Given the description of an element on the screen output the (x, y) to click on. 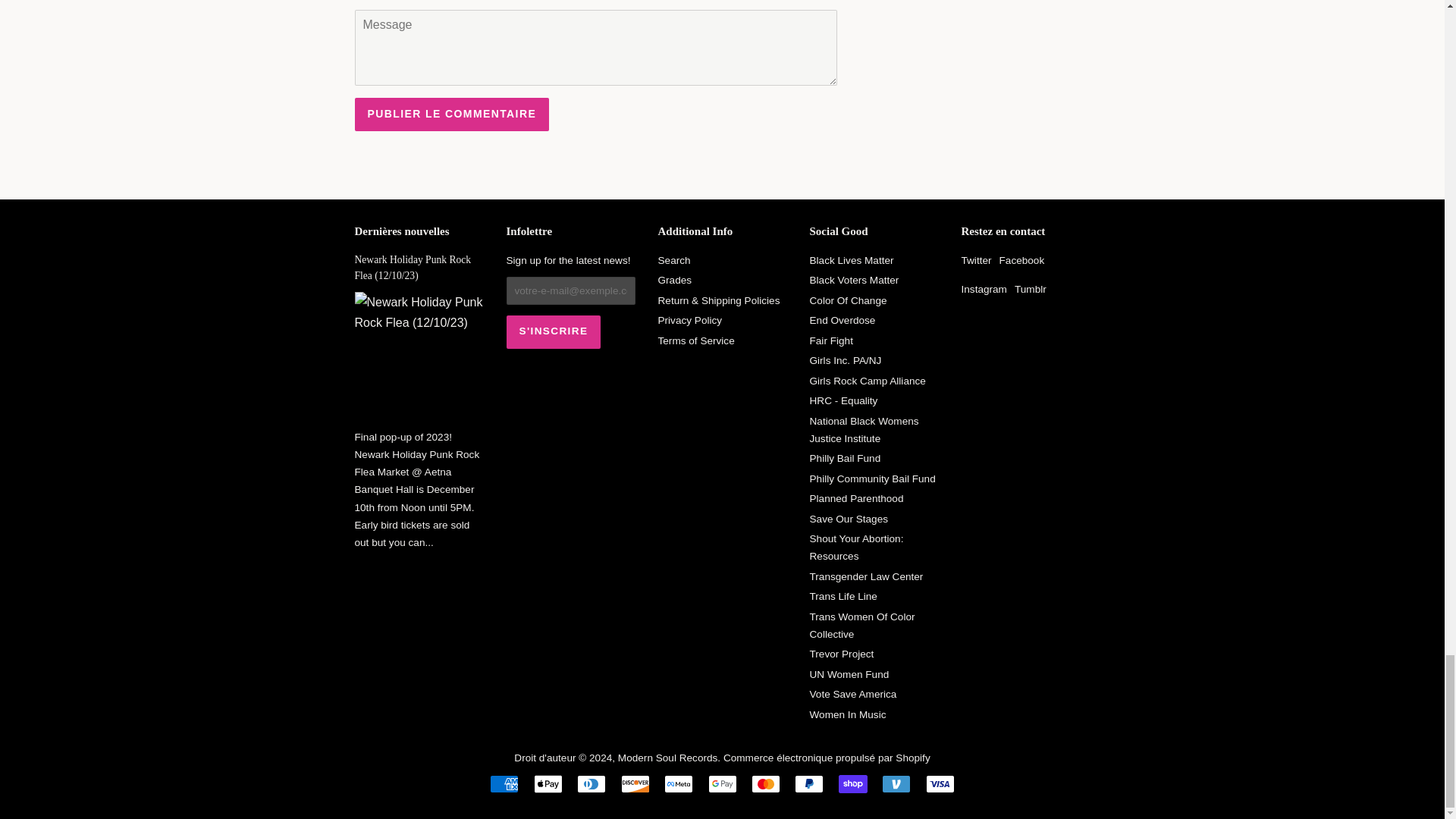
Discover (635, 783)
Mastercard (765, 783)
Diners Club (590, 783)
S'inscrire (553, 331)
Apple Pay (548, 783)
Publier le commentaire (452, 114)
Visa (940, 783)
Venmo (896, 783)
Shop Pay (852, 783)
PayPal (809, 783)
Meta Pay (678, 783)
American Express (503, 783)
Google Pay (721, 783)
